Given the description of an element on the screen output the (x, y) to click on. 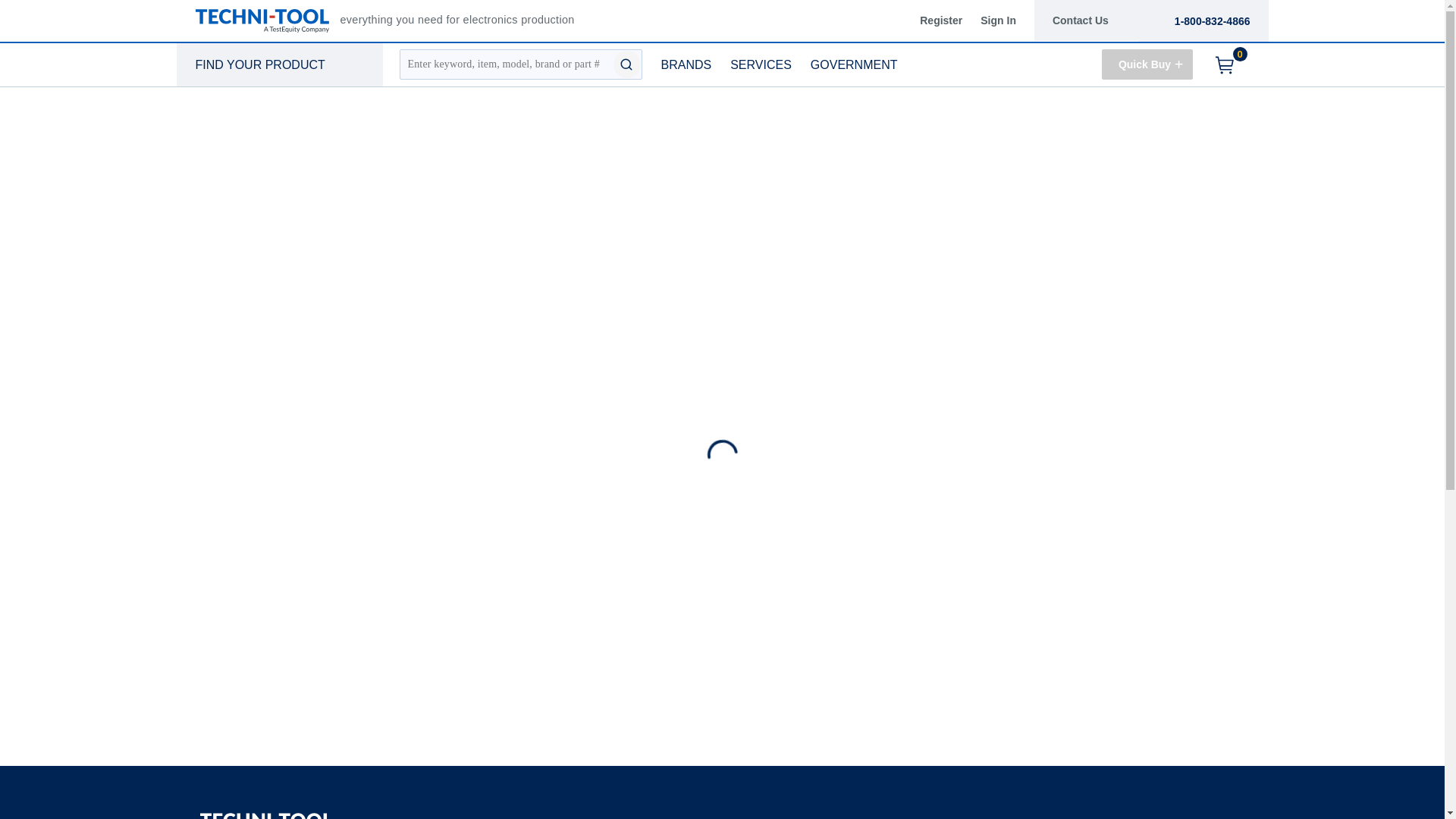
Register (1146, 64)
A TestEquity Company (949, 20)
SERVICES (264, 813)
GOVERNMENT (762, 64)
BRANDS (855, 64)
1-800-832-4866 (688, 64)
A TestEquity Company (1209, 21)
submit search (264, 813)
FIND YOUR PRODUCT (626, 64)
Contact Us (261, 64)
